Given the description of an element on the screen output the (x, y) to click on. 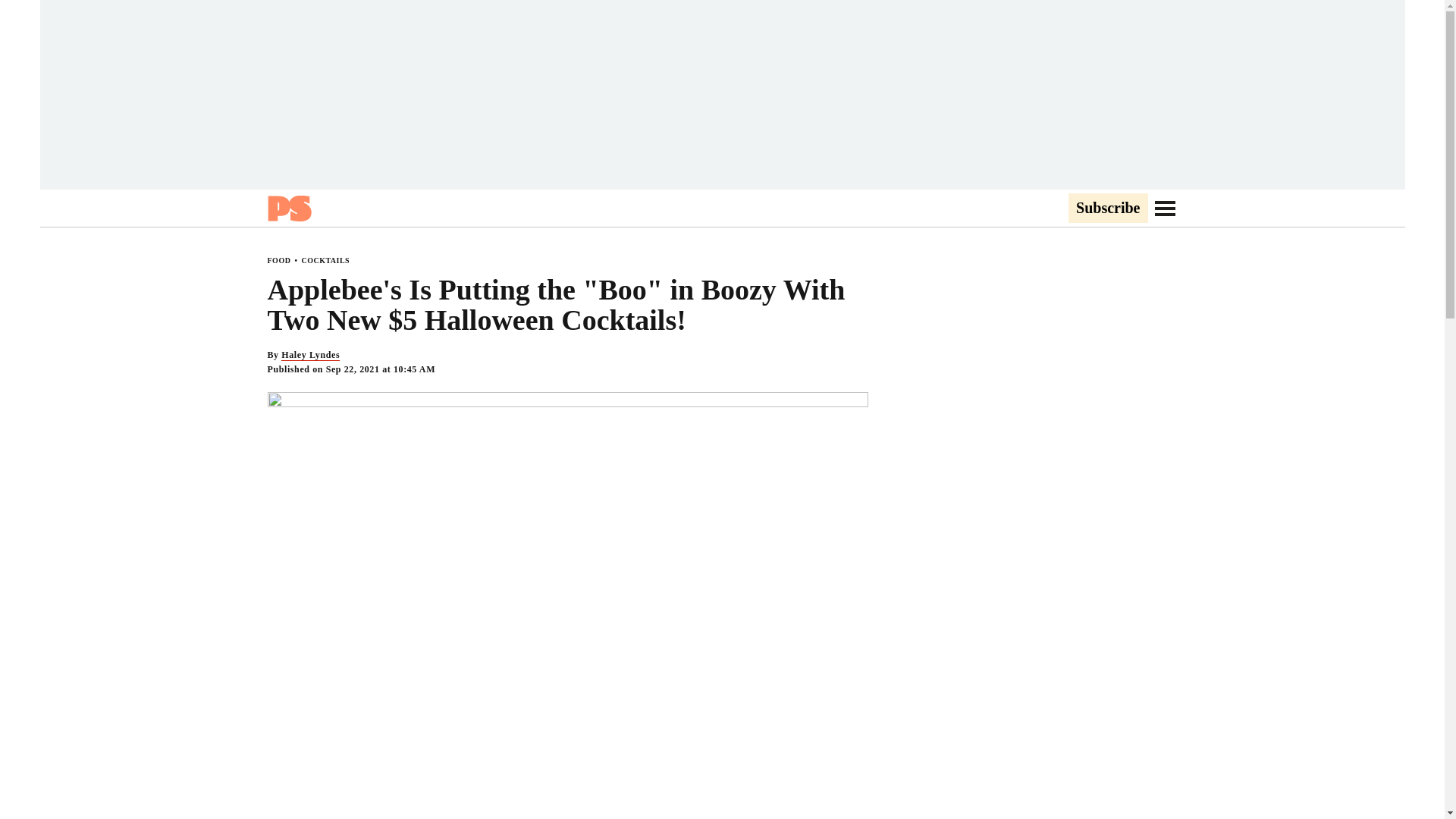
COCKTAILS (325, 260)
Subscribe (1107, 208)
Popsugar (288, 208)
Haley Lyndes (310, 355)
Go to Navigation (1164, 207)
FOOD (277, 260)
Go to Navigation (1164, 207)
